Given the description of an element on the screen output the (x, y) to click on. 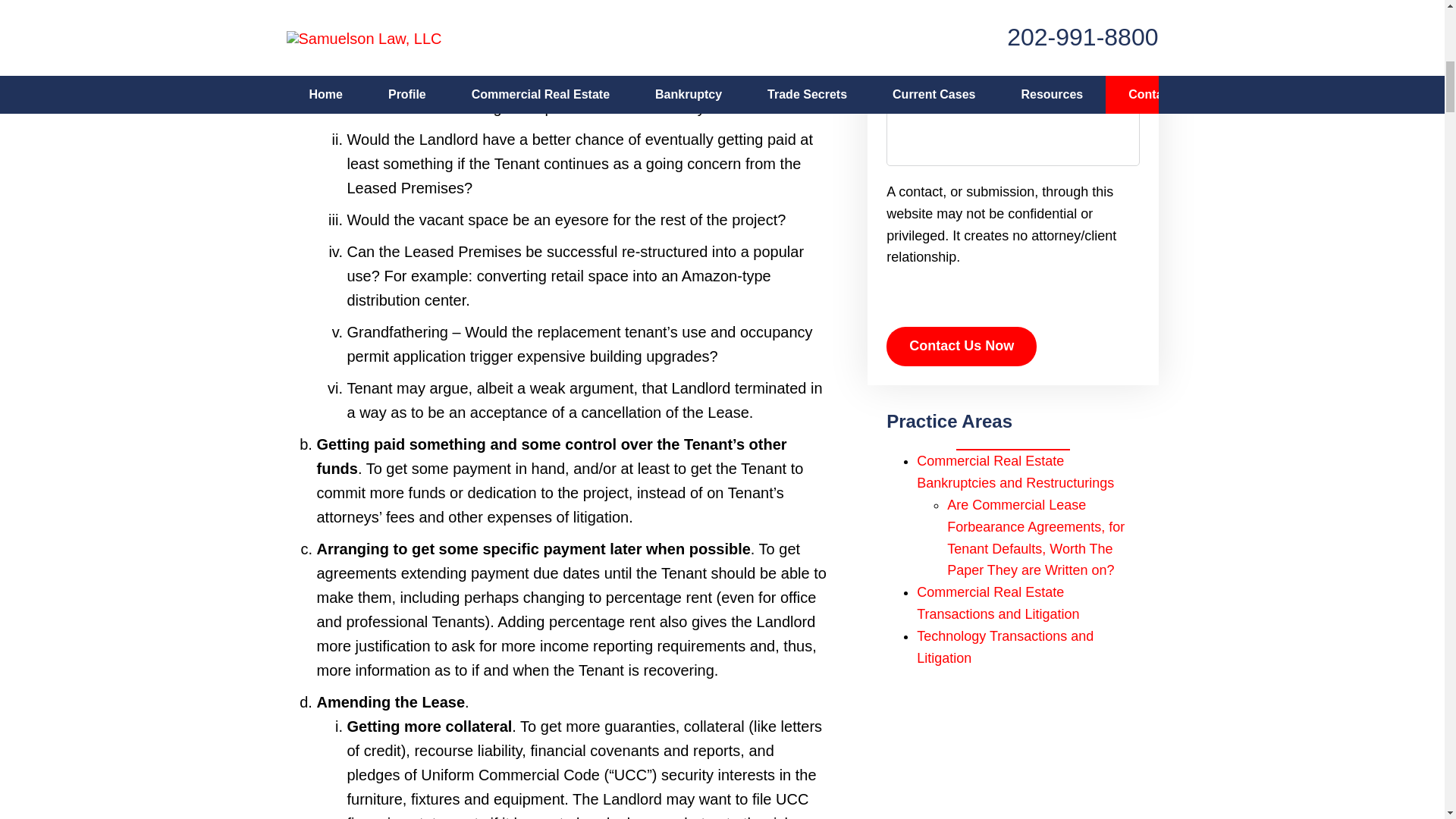
Contact Us Now (961, 346)
Technology Transactions and Litigation (1005, 646)
Commercial Real Estate Bankruptcies and Restructurings (1015, 471)
Commercial Real Estate Transactions and Litigation (997, 602)
